Given the description of an element on the screen output the (x, y) to click on. 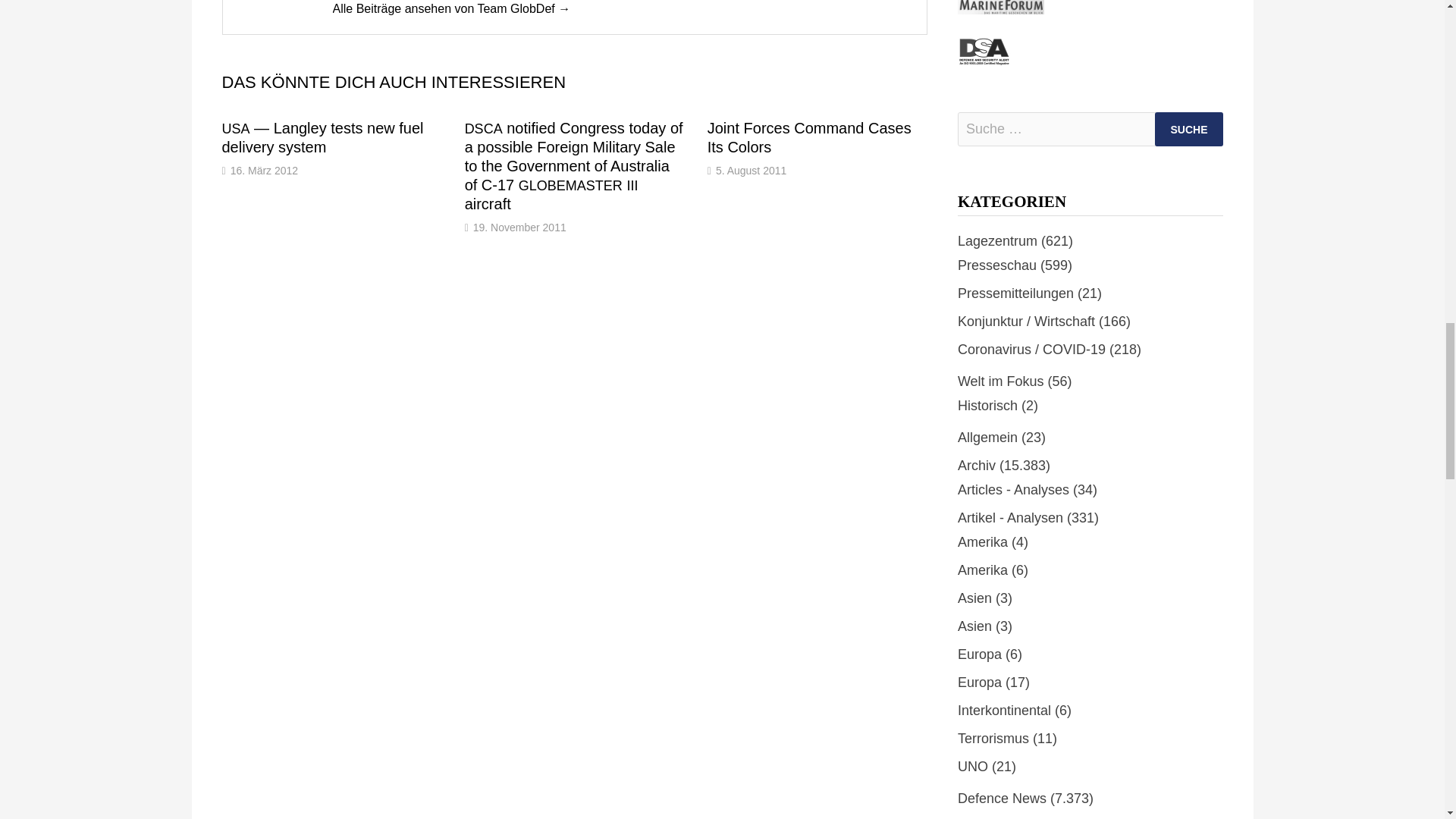
Suche (1188, 129)
Joint Forces Command Cases Its Colors (809, 137)
Team GlobDef (450, 8)
Suche (1188, 129)
